Given the description of an element on the screen output the (x, y) to click on. 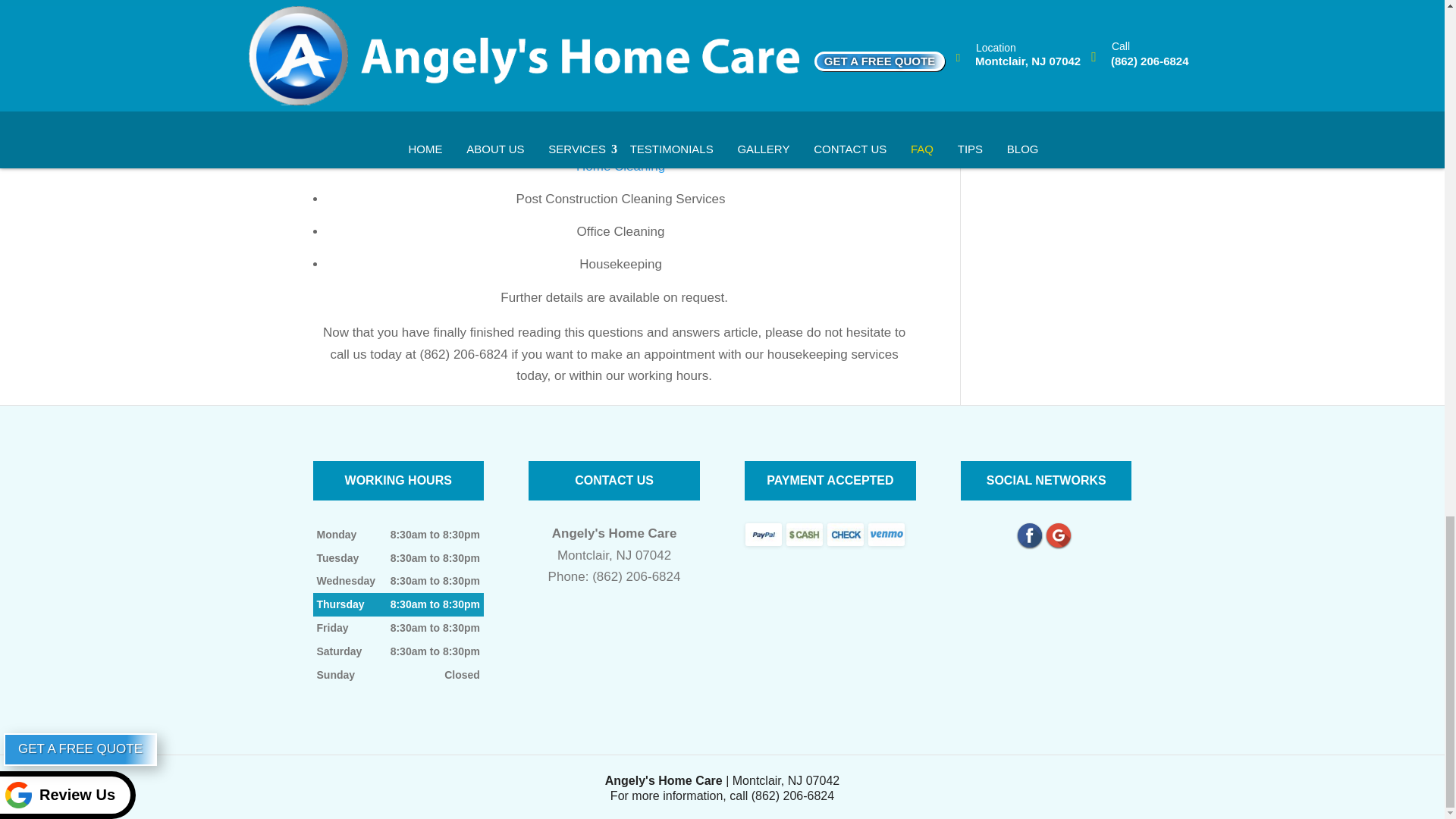
google (1058, 535)
check payment accepted (845, 534)
paypal payment accepted (763, 534)
Check company profile on facebook (1029, 535)
venmo payment accepted (885, 534)
Check company profile on google (1058, 535)
facebook (1029, 535)
Home Cleaning (620, 165)
cash payment accepted (804, 534)
